Given the description of an element on the screen output the (x, y) to click on. 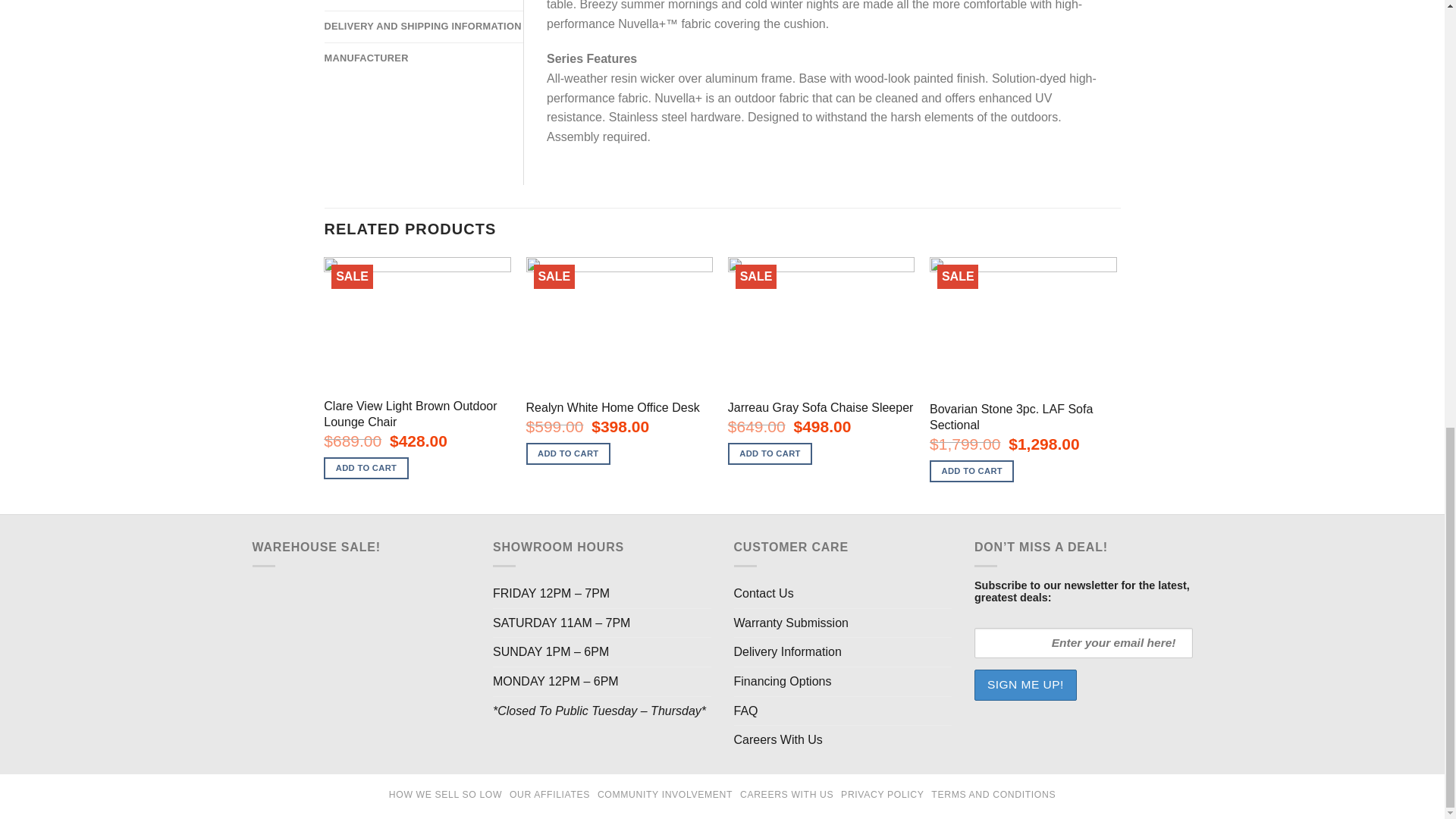
Sign me up! (1025, 684)
